Given the description of an element on the screen output the (x, y) to click on. 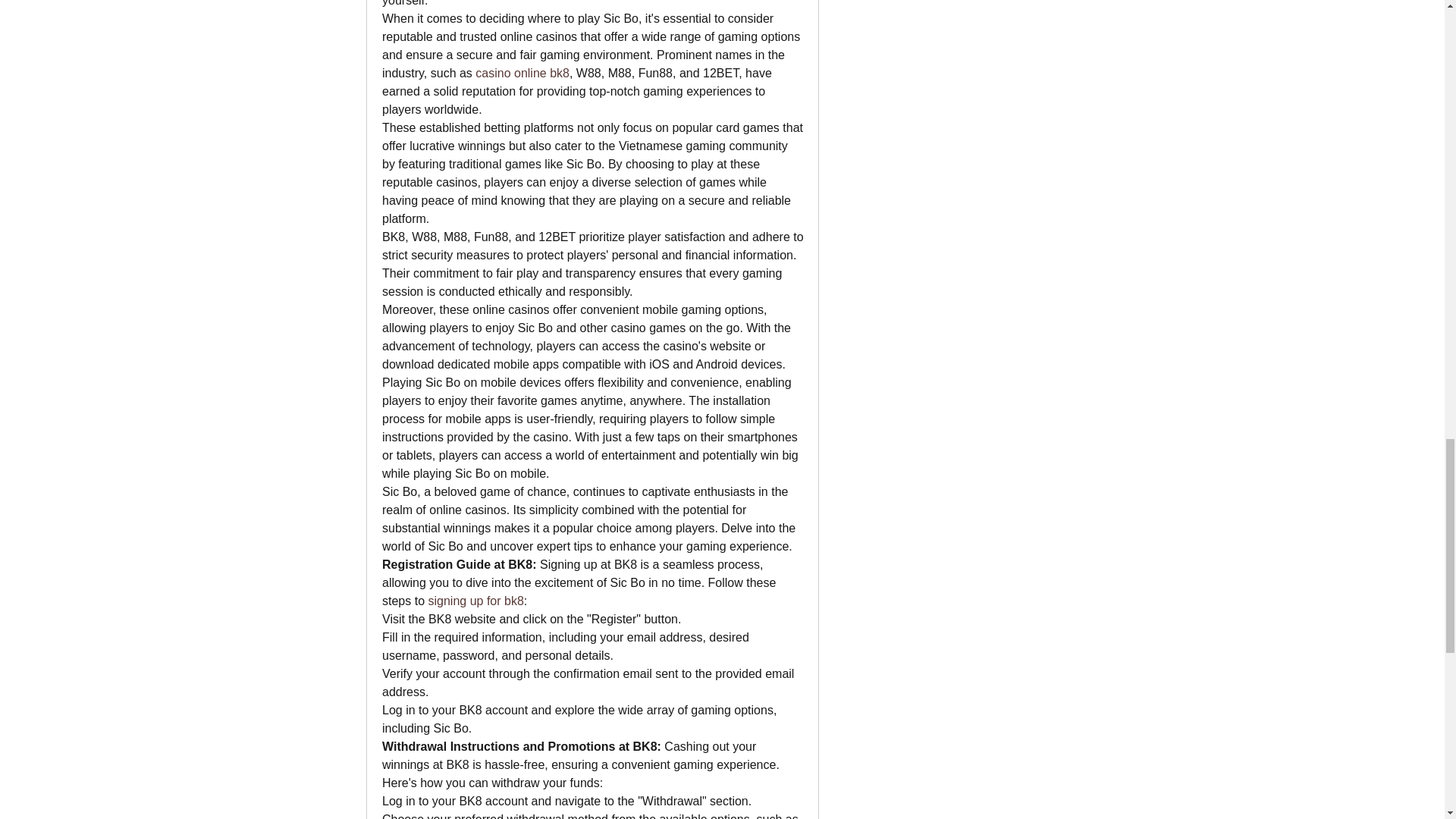
signing up for bk8 (475, 600)
casino online bk8 (522, 72)
